Given the description of an element on the screen output the (x, y) to click on. 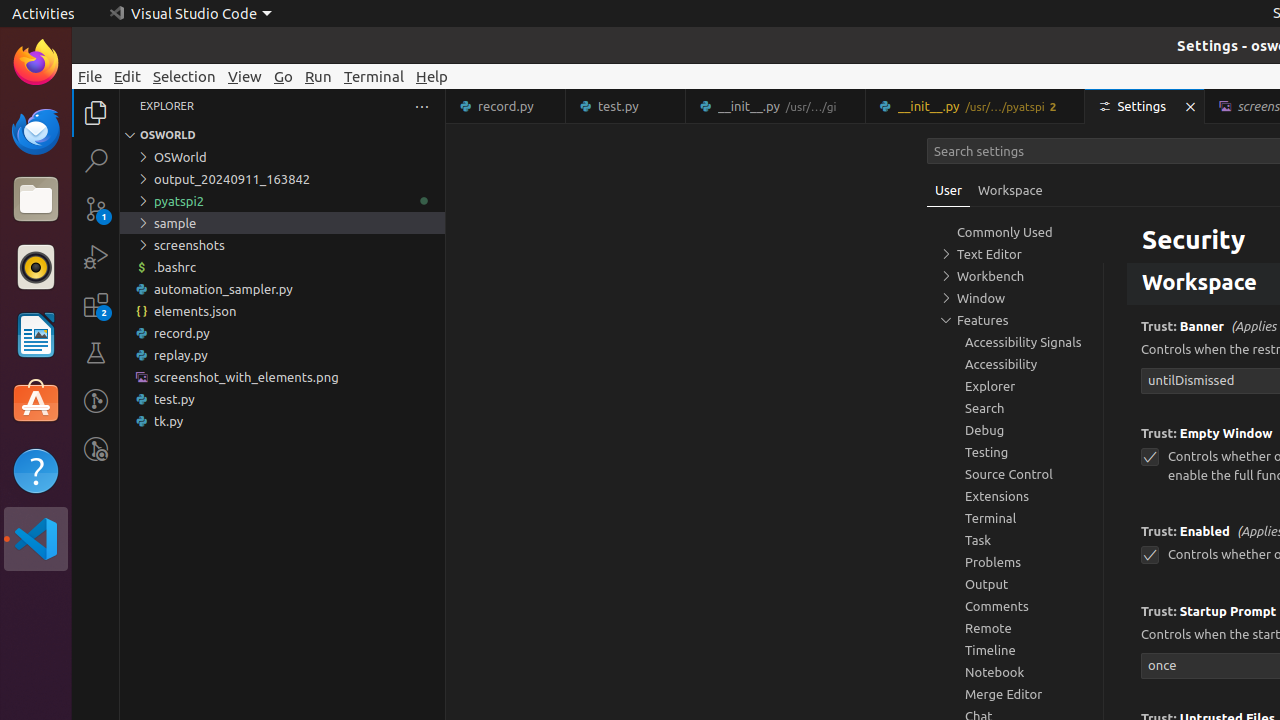
Terminal Element type: push-button (374, 76)
security.workspace.trust.enabled Element type: check-box (1150, 555)
Accessibility, group Element type: tree-item (1015, 364)
sample Element type: tree-item (282, 223)
